Given the description of an element on the screen output the (x, y) to click on. 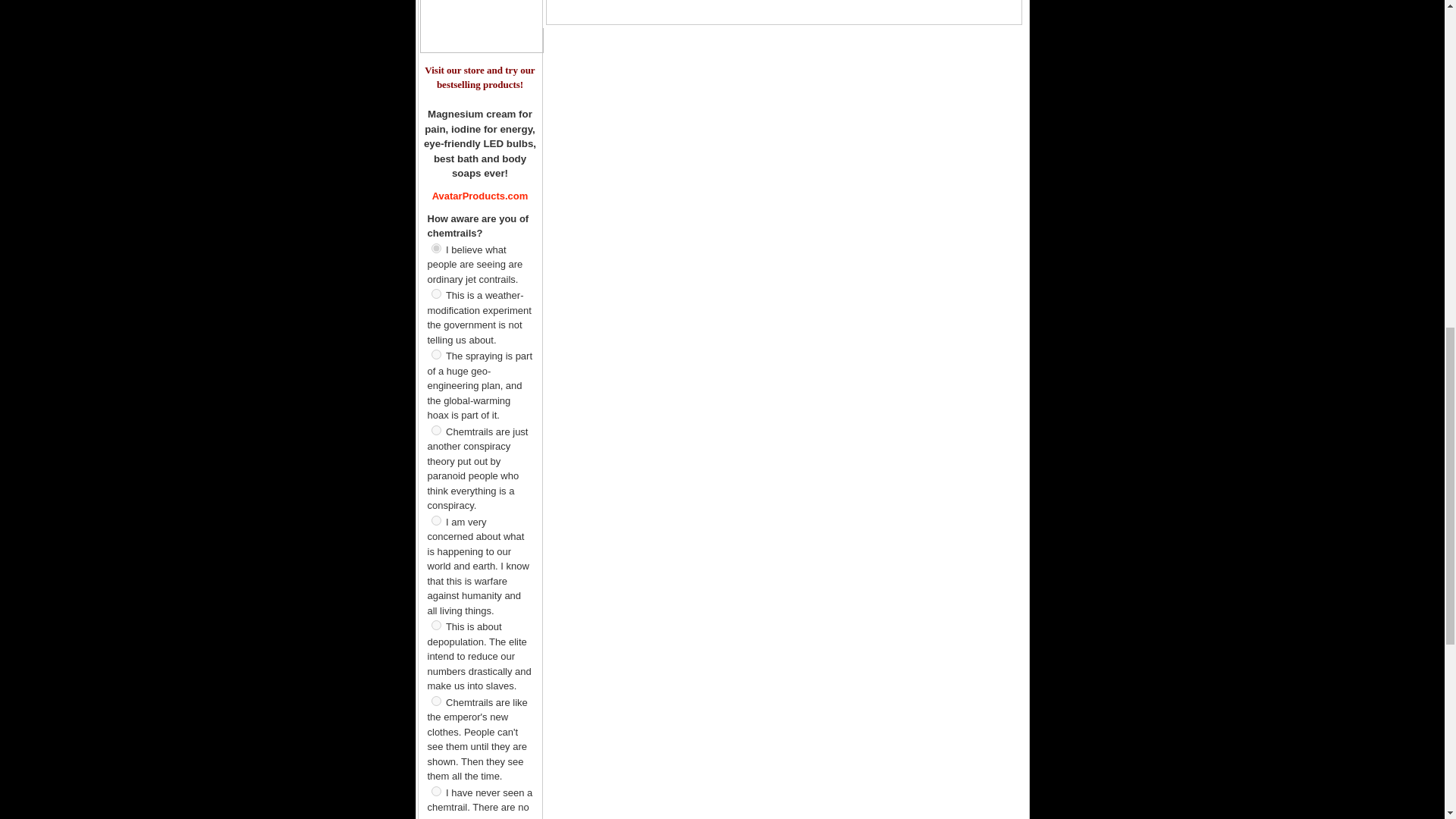
6 (435, 700)
AvatarProducts.com (480, 195)
3 (435, 429)
5 (435, 624)
7 (435, 791)
2 (435, 354)
0 (435, 248)
4 (435, 520)
1 (435, 293)
